Given the description of an element on the screen output the (x, y) to click on. 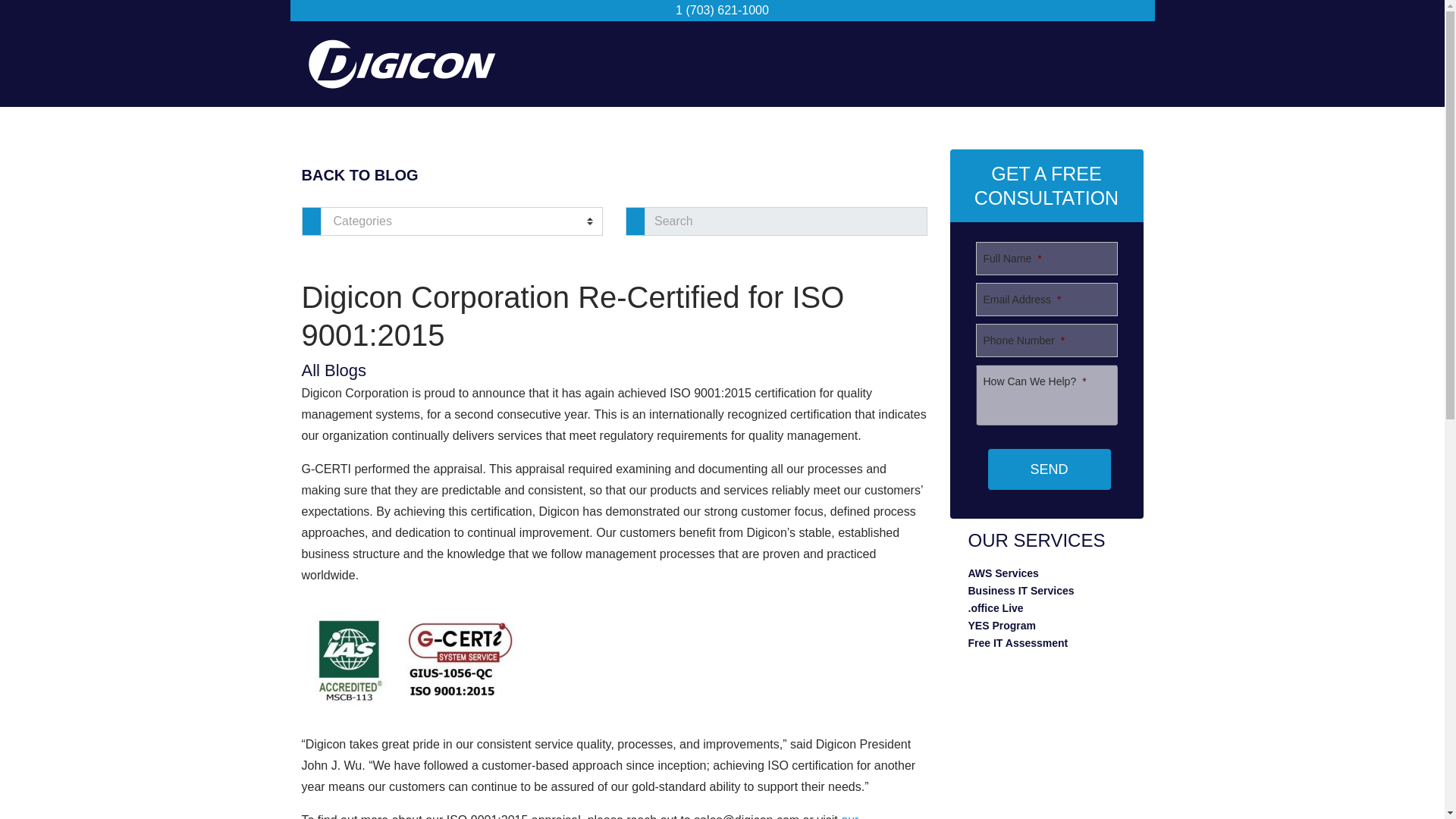
SEND (1048, 468)
